Given the description of an element on the screen output the (x, y) to click on. 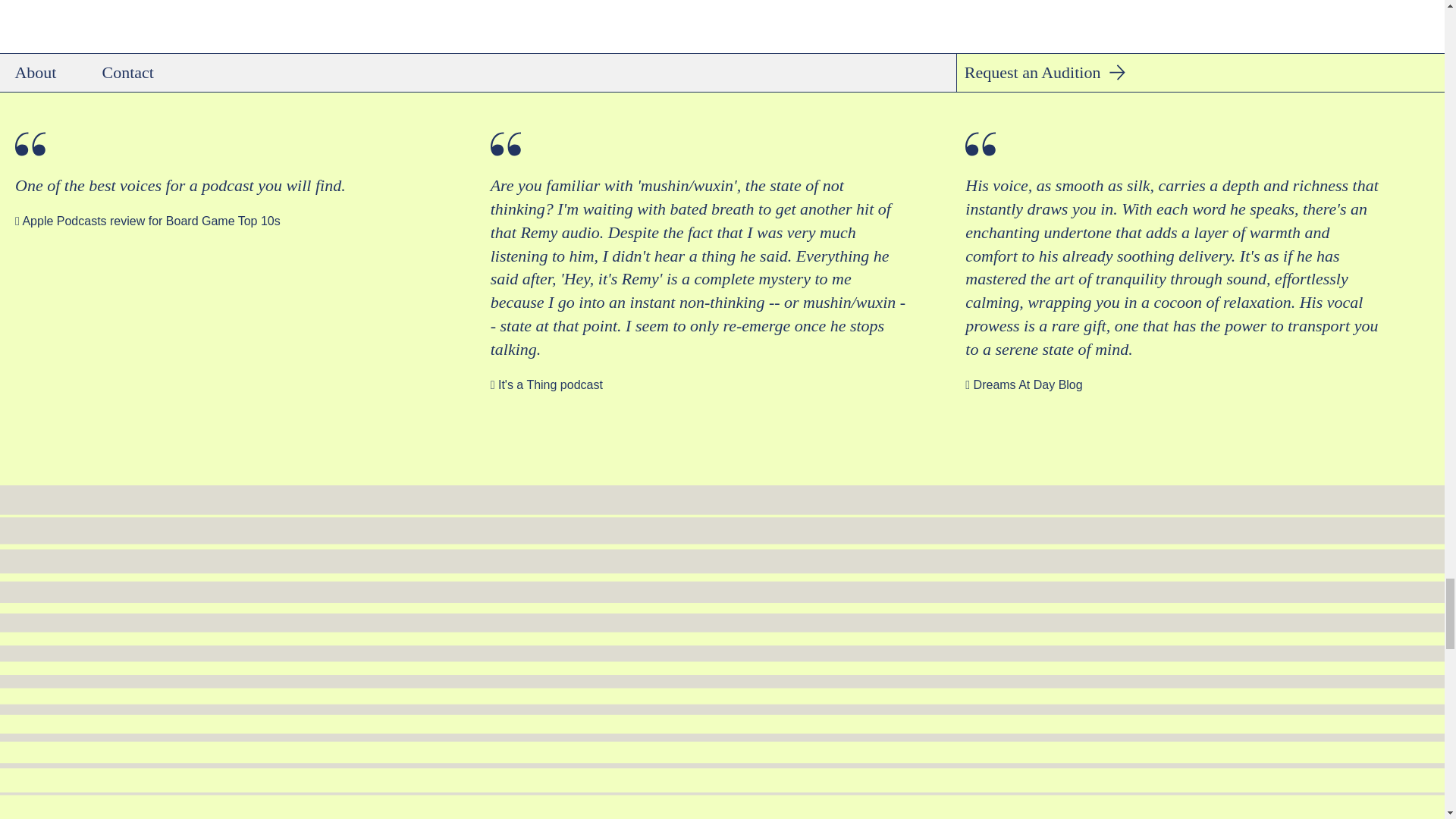
Dreams At Day Blog (1028, 384)
